Given the description of an element on the screen output the (x, y) to click on. 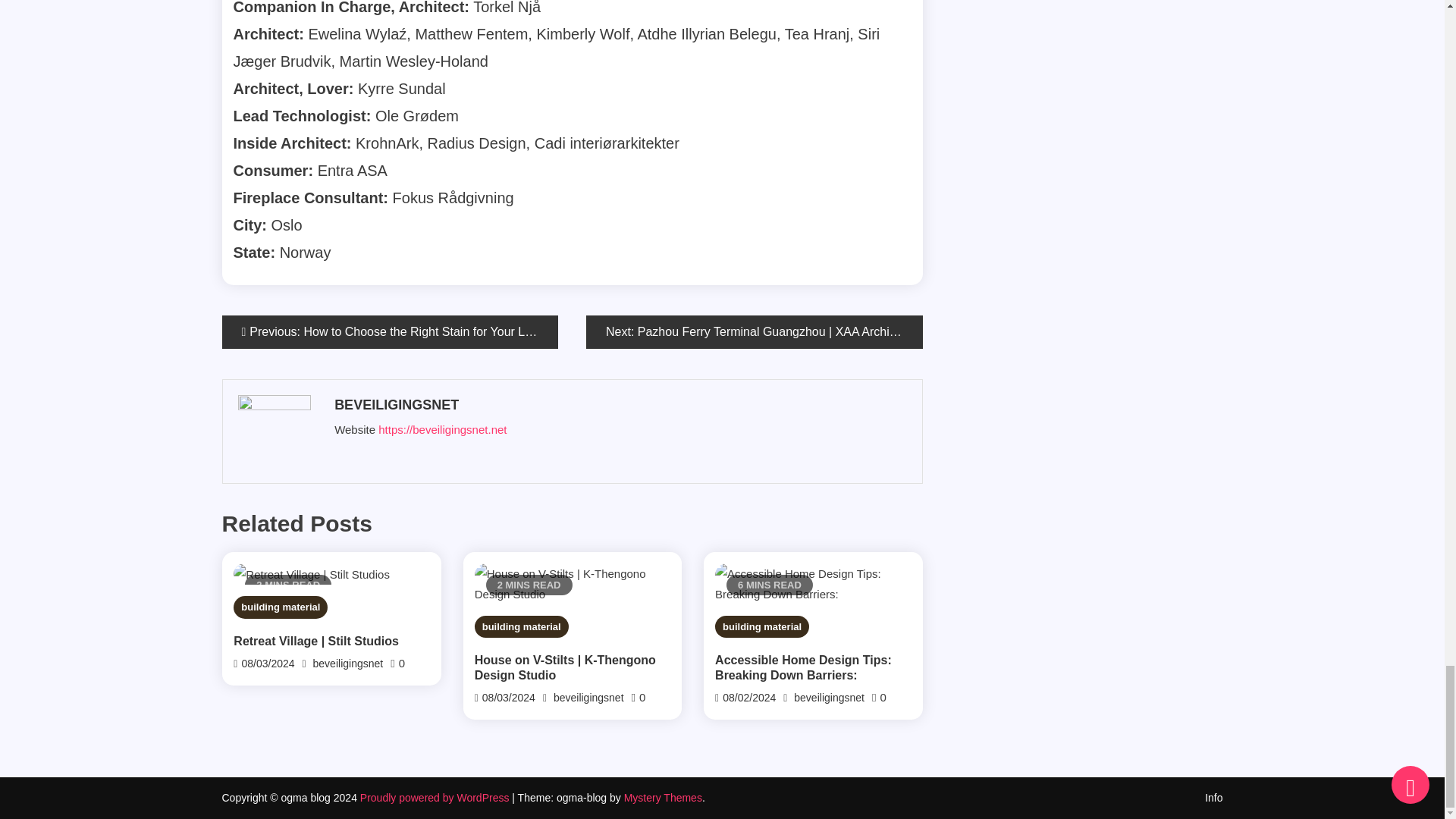
building material (279, 607)
BEVEILIGINGSNET (618, 404)
beveiligingsnet (348, 663)
Posts by beveiligingsnet (618, 404)
Previous: How to Choose the Right Stain for Your Log Cabin (389, 331)
